Given the description of an element on the screen output the (x, y) to click on. 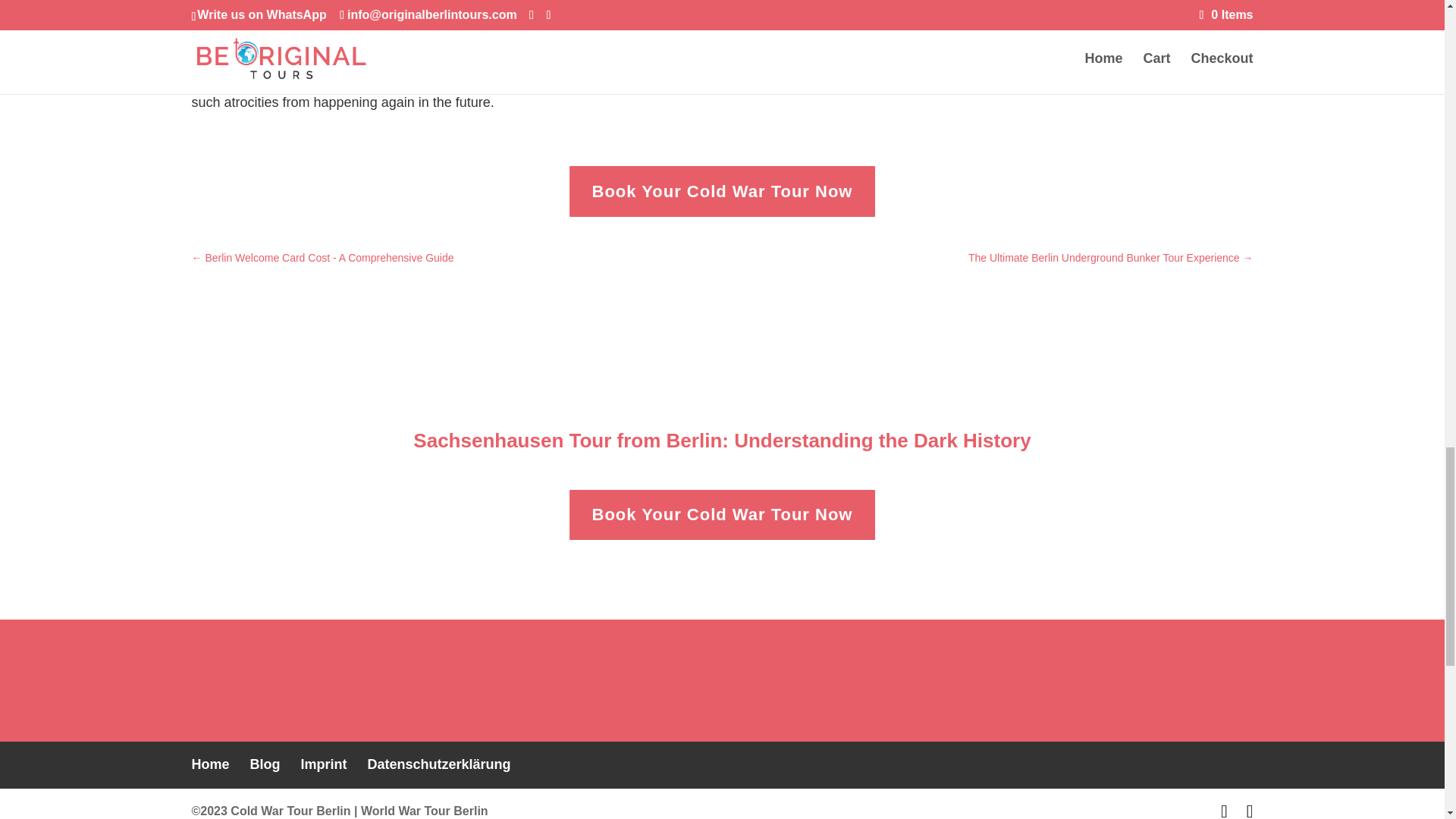
Book Your Cold War Tour Now (722, 191)
World War Tour Berlin (424, 810)
Home (209, 764)
Book Your Cold War Tour Now (722, 514)
Blog (265, 764)
Cold War Tour Berlin (290, 810)
Imprint (324, 764)
